Given the description of an element on the screen output the (x, y) to click on. 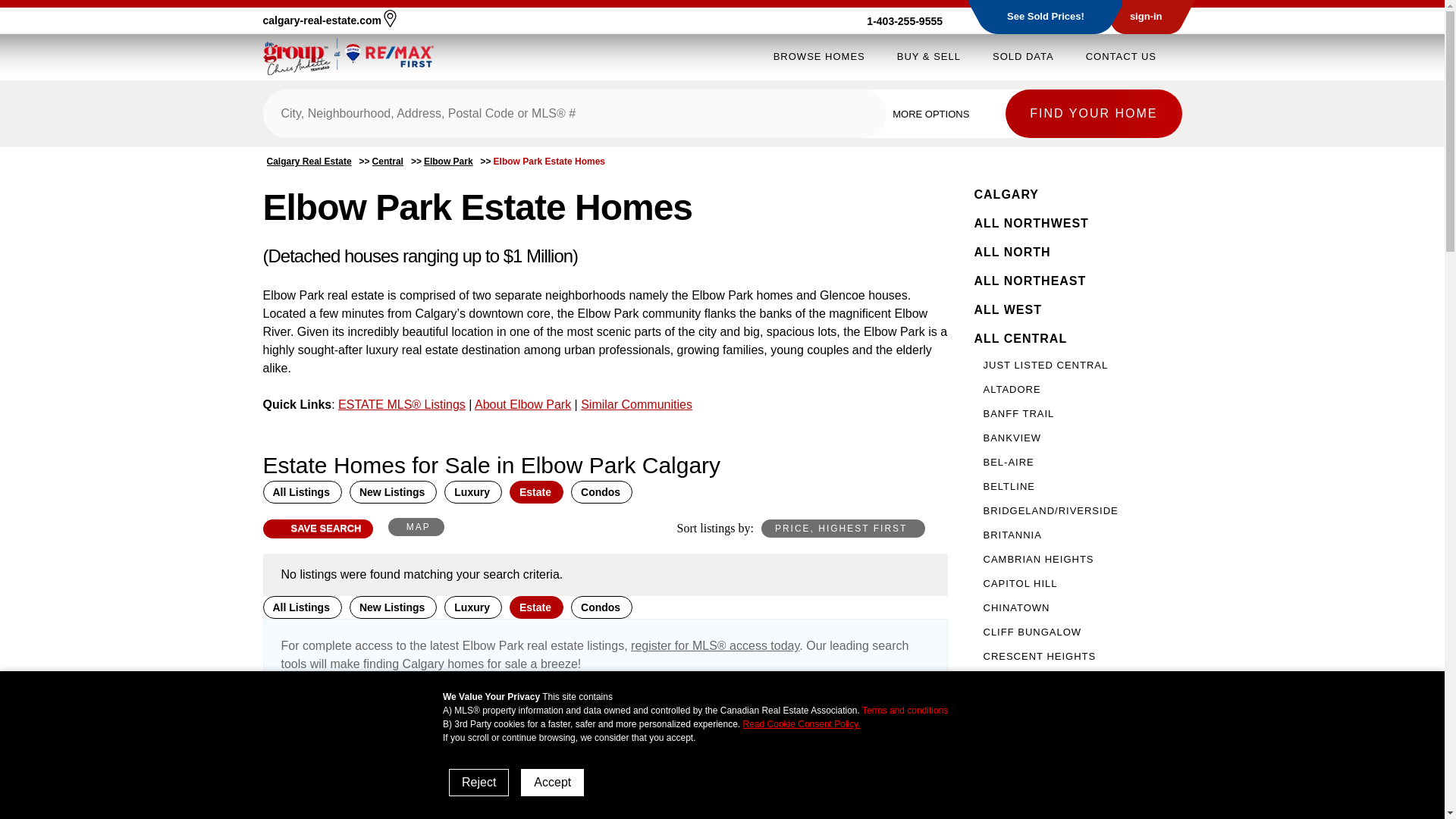
SOLD DATA (1023, 56)
Condos  (600, 607)
CONTACT US (1121, 56)
View listings on a map (416, 526)
See Sold Prices! (1045, 16)
Condos  (600, 491)
1-403-255-9555 (913, 20)
All Listings (301, 491)
New Listings  (392, 607)
BROWSE HOMES (818, 56)
